Given the description of an element on the screen output the (x, y) to click on. 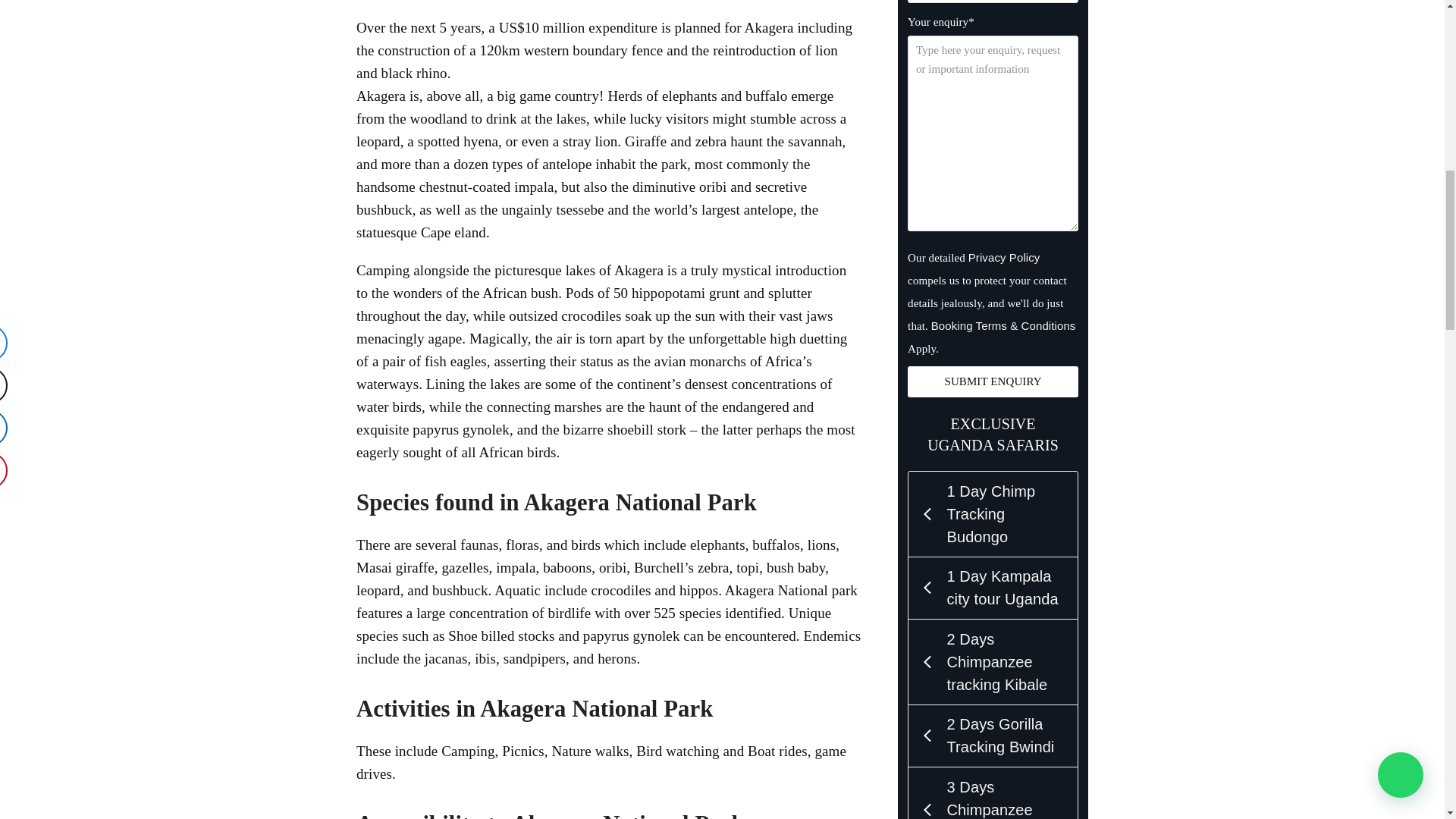
3 Days Chimpanzee Tracking Kibale (992, 793)
2 Days Chimpanzee tracking Kibale (992, 661)
1 Day Kampala city tour Uganda (992, 588)
2 Days Gorilla Tracking Bwindi (992, 736)
SUBMIT ENQUIRY (992, 381)
1 Day Chimp Tracking Budongo (992, 513)
SUBMIT ENQUIRY (992, 381)
Privacy Policy (1004, 256)
